Given the description of an element on the screen output the (x, y) to click on. 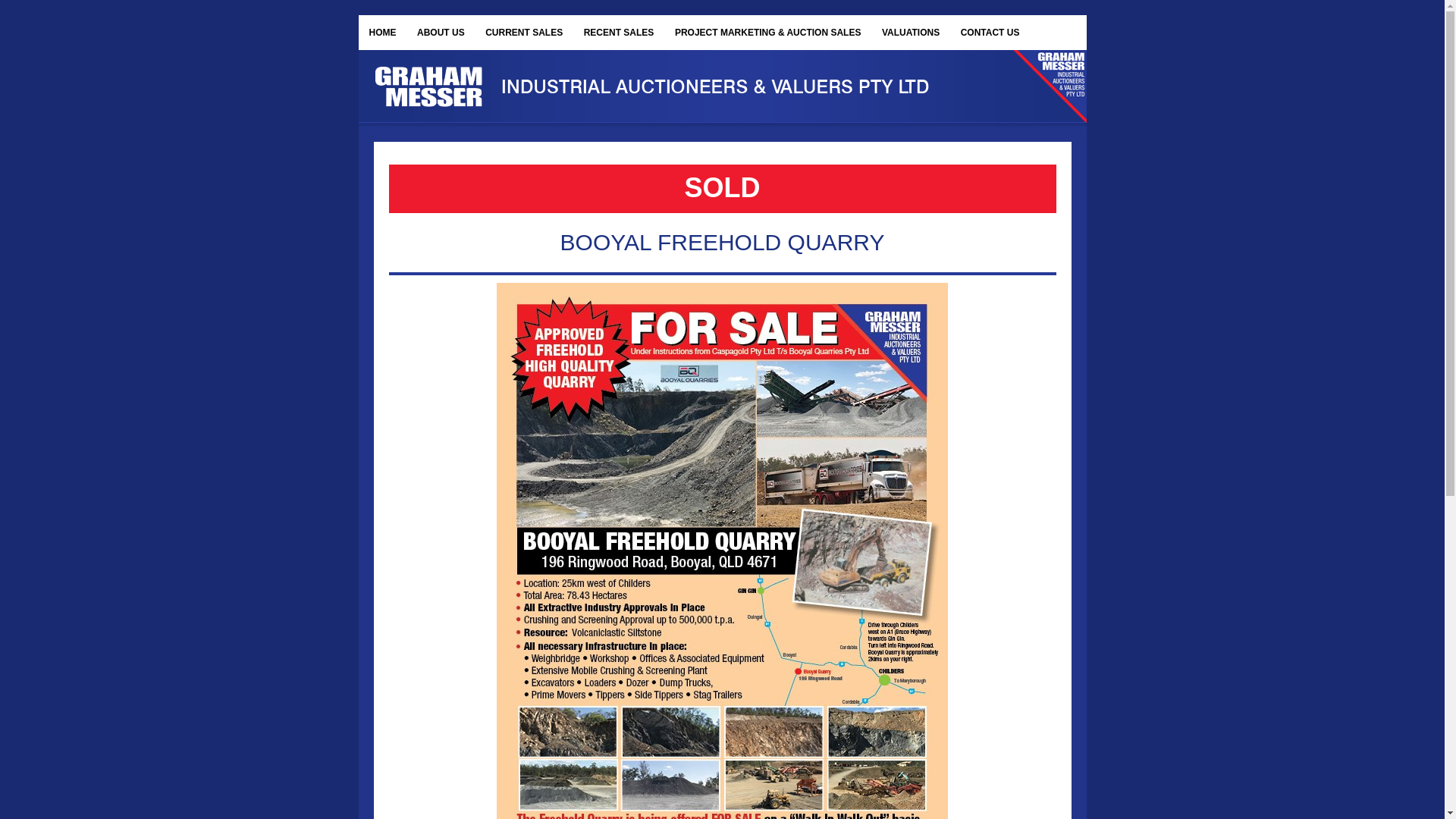
HOME Element type: text (381, 32)
PROJECT MARKETING & AUCTION SALES Element type: text (767, 32)
CONTACT US Element type: text (989, 32)
ABOUT US Element type: text (440, 32)
VALUATIONS Element type: text (910, 32)
RECENT SALES Element type: text (618, 32)
CURRENT SALES Element type: text (523, 32)
